Given the description of an element on the screen output the (x, y) to click on. 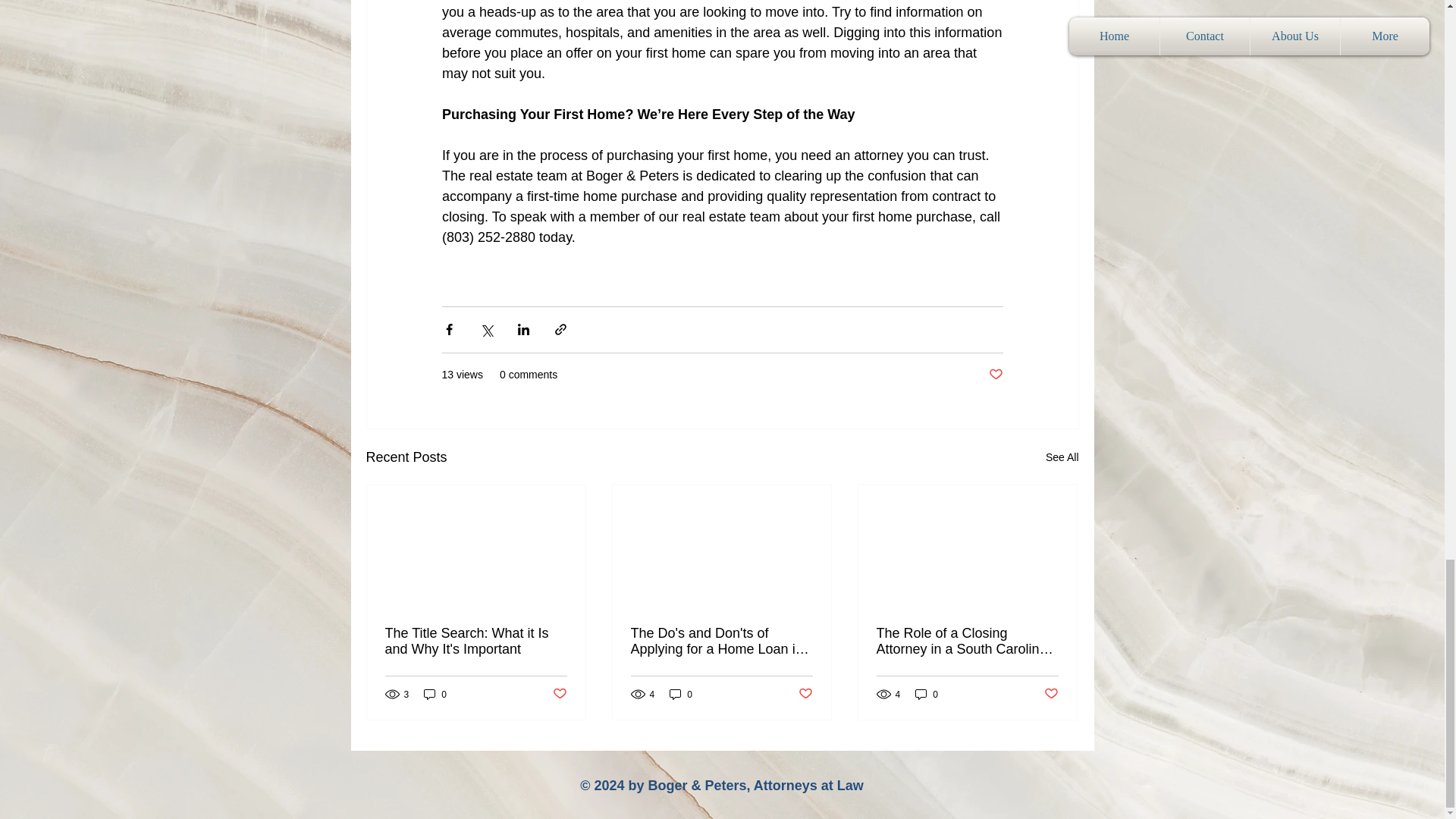
0 (681, 694)
Post not marked as liked (558, 693)
The Title Search: What it Is and Why It's Important (476, 641)
0 (435, 694)
Post not marked as liked (995, 374)
See All (1061, 457)
Post not marked as liked (1050, 693)
Post not marked as liked (804, 693)
